Given the description of an element on the screen output the (x, y) to click on. 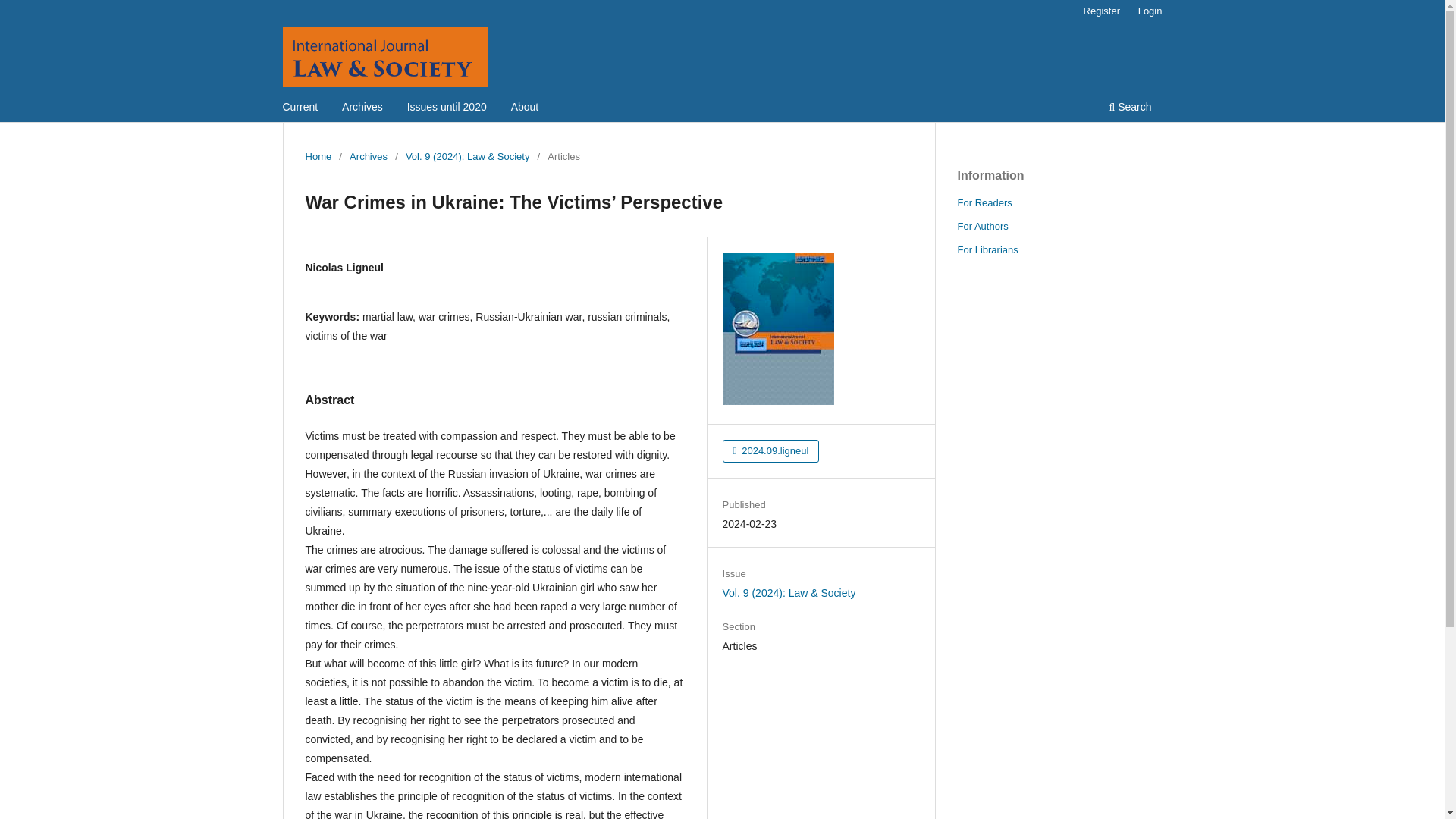
Login (1150, 11)
Register (1100, 11)
For Authors (981, 225)
Current (300, 108)
Archives (368, 156)
About (524, 108)
Home (317, 156)
For Librarians (986, 249)
For Readers (983, 202)
Issues until 2020 (446, 108)
Archives (362, 108)
2024.09.ligneul (770, 450)
Search (1129, 108)
